Given the description of an element on the screen output the (x, y) to click on. 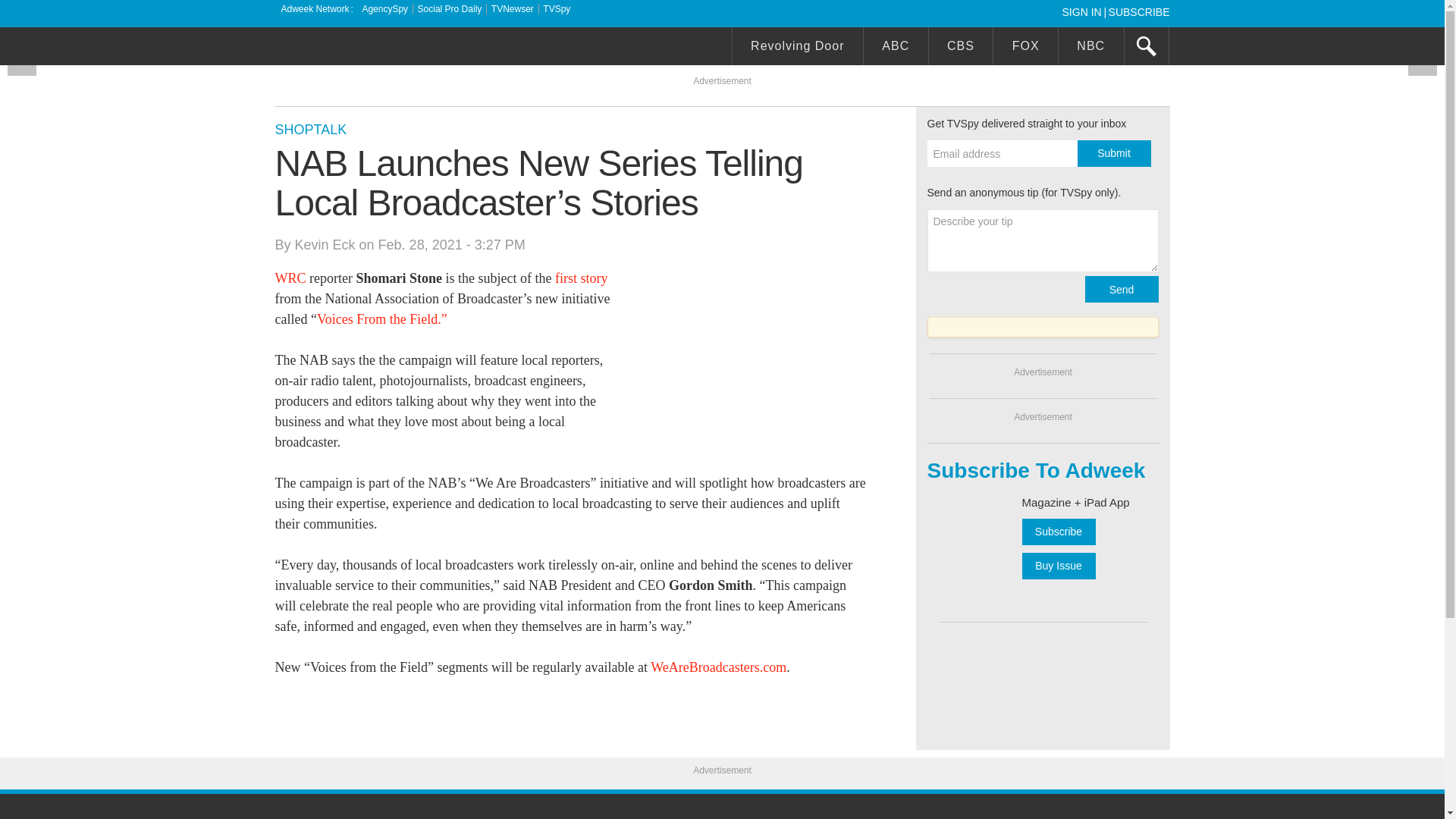
Send (1120, 289)
SUBSCRIBE (1139, 11)
SIGN IN (1084, 11)
Social Pro Daily (449, 9)
CBS (960, 48)
NBC (1091, 48)
Adweek Network (316, 9)
Submit (1113, 153)
Covering local television news (388, 47)
TVSpy (556, 9)
